Given the description of an element on the screen output the (x, y) to click on. 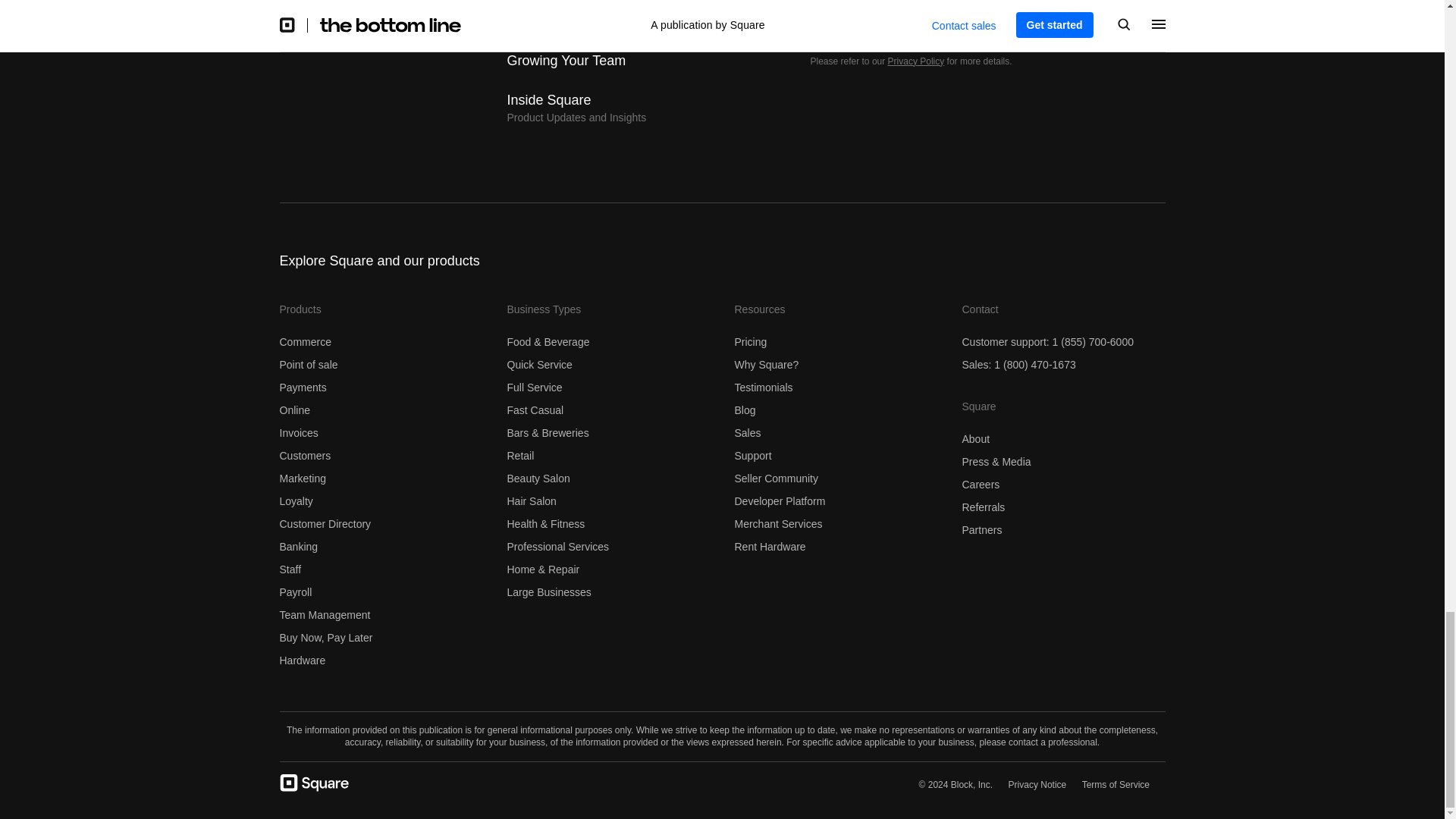
Product Updates and Insights (576, 108)
